Given the description of an element on the screen output the (x, y) to click on. 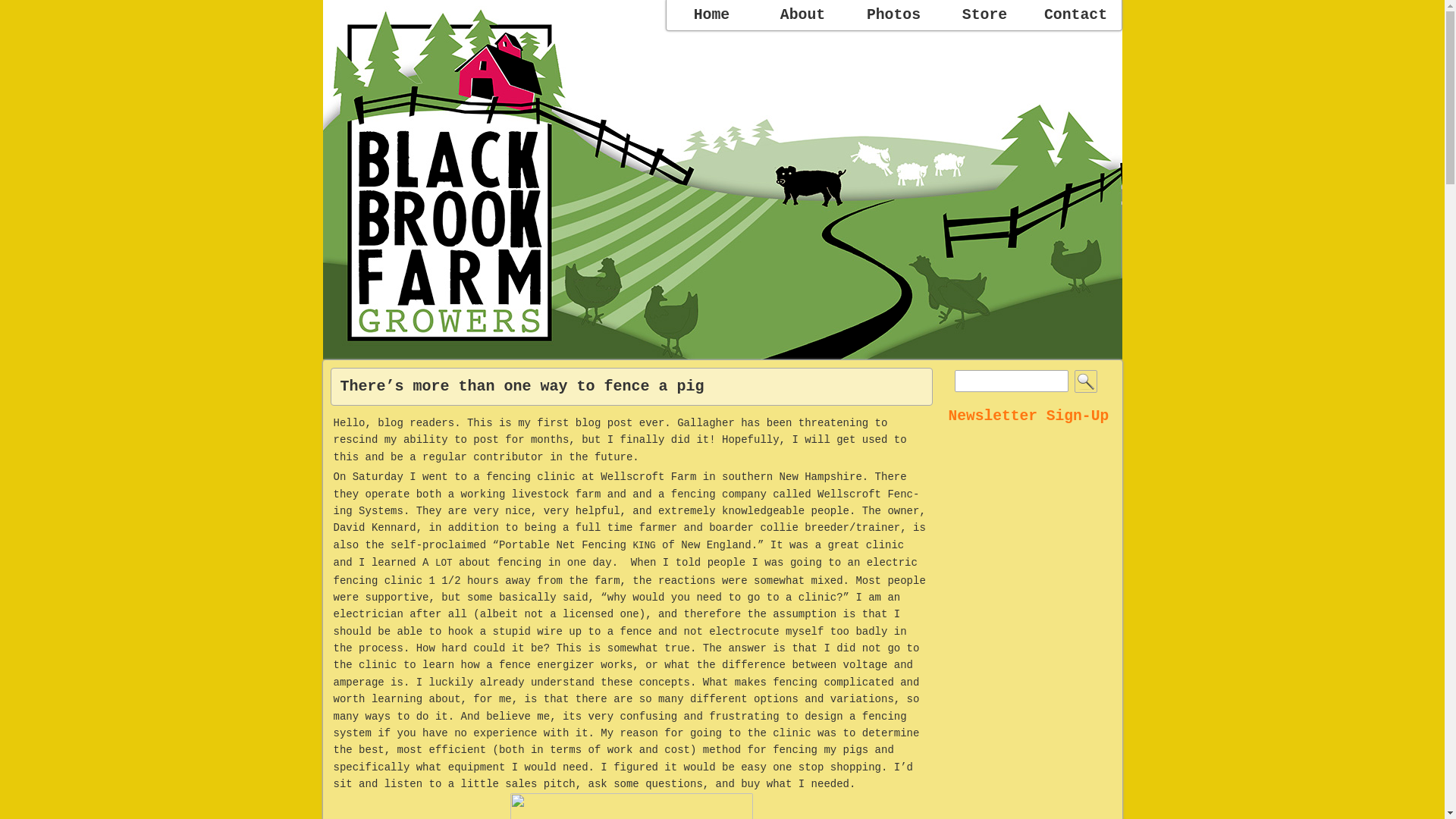
Contact (1075, 15)
Home (711, 15)
Search (1085, 381)
Search (1085, 381)
About (802, 15)
Photos (893, 15)
Store (984, 15)
